Given the description of an element on the screen output the (x, y) to click on. 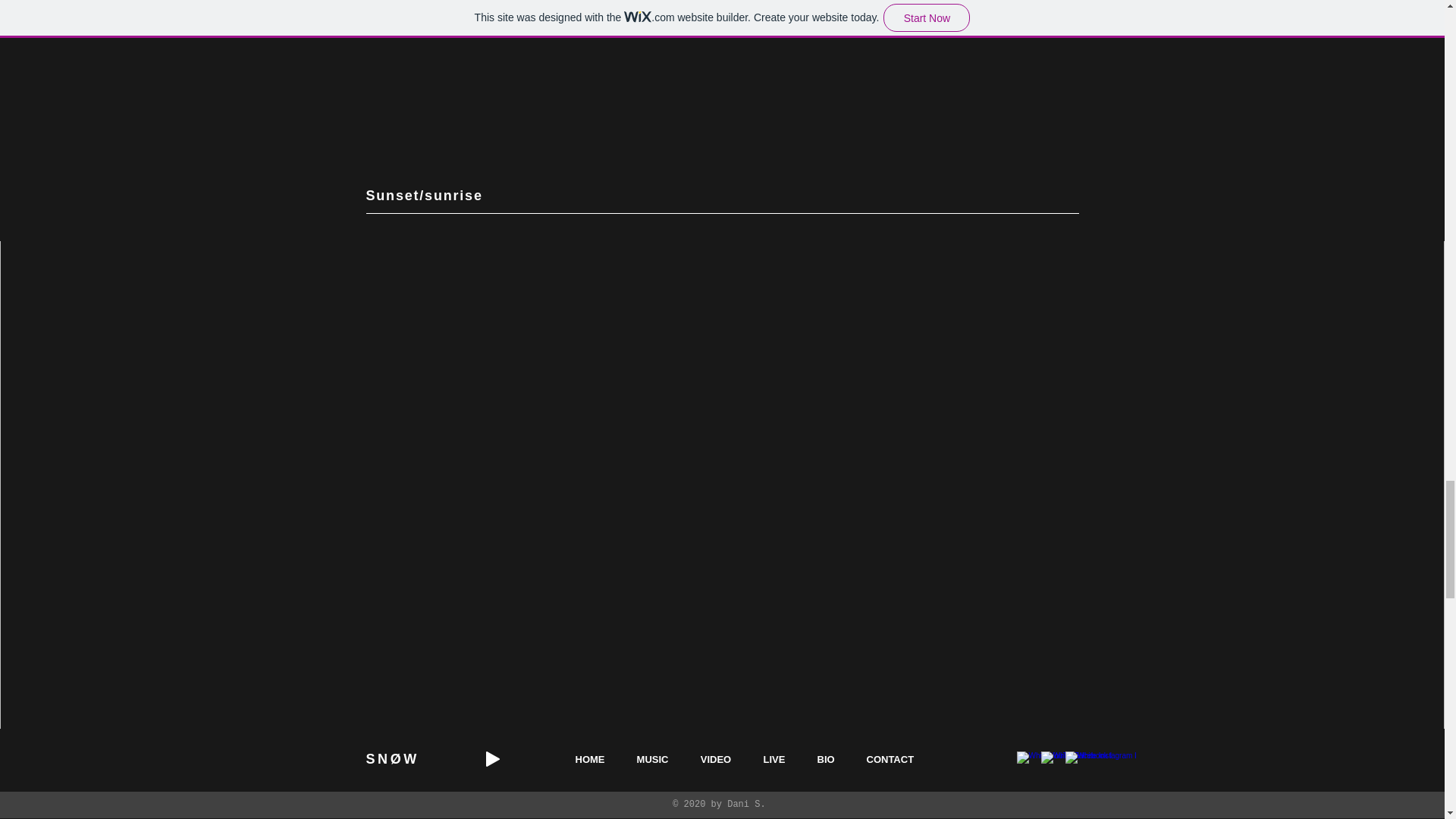
External YouTube (721, 86)
